Given the description of an element on the screen output the (x, y) to click on. 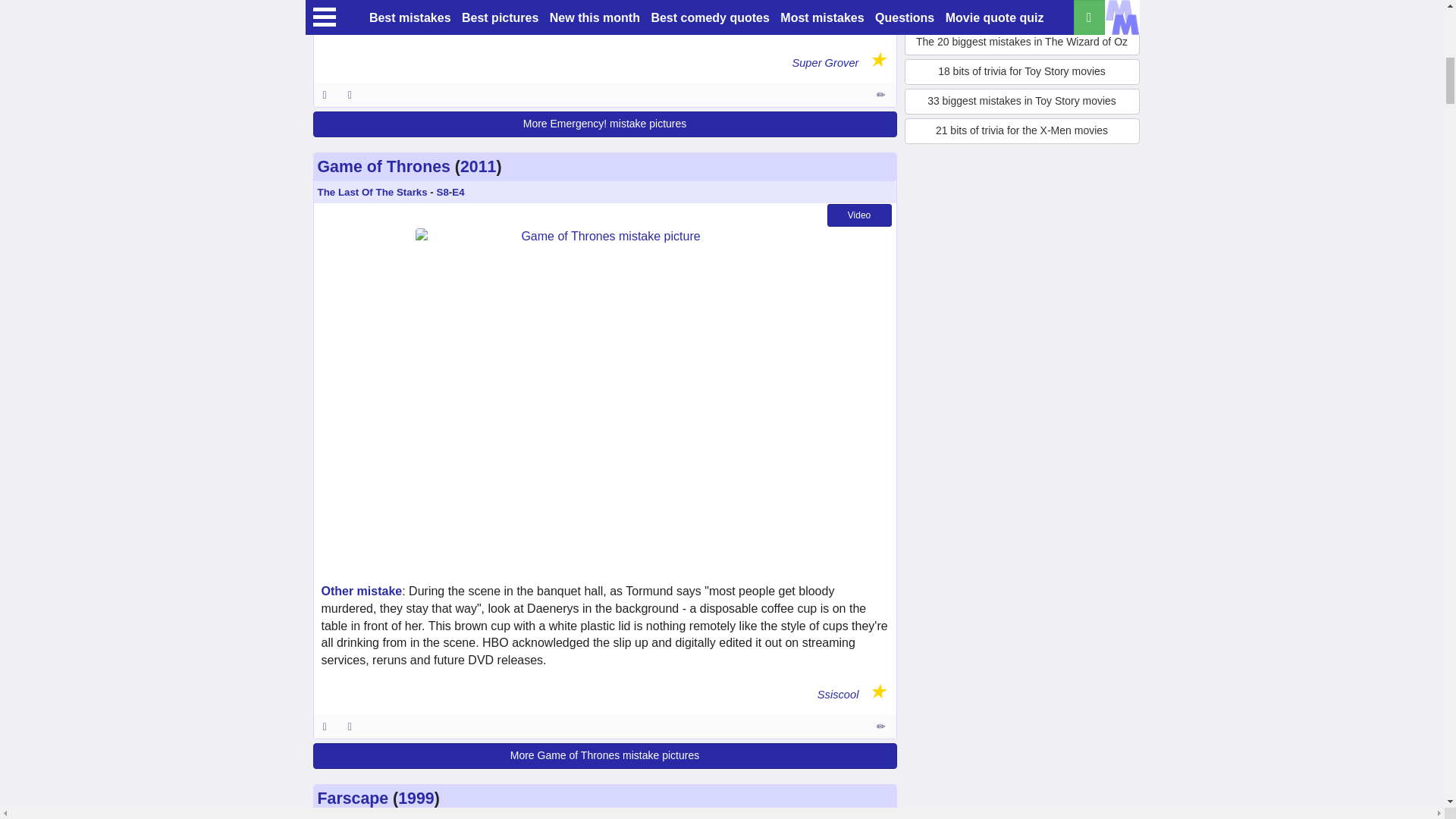
Entry 299470 (881, 726)
Share this entry (353, 726)
Entry 198823 (881, 94)
ID 198823: 1st February 2014 (325, 94)
Share this entry (353, 94)
ID 299470: 6th May 2019 (325, 726)
